Given the description of an element on the screen output the (x, y) to click on. 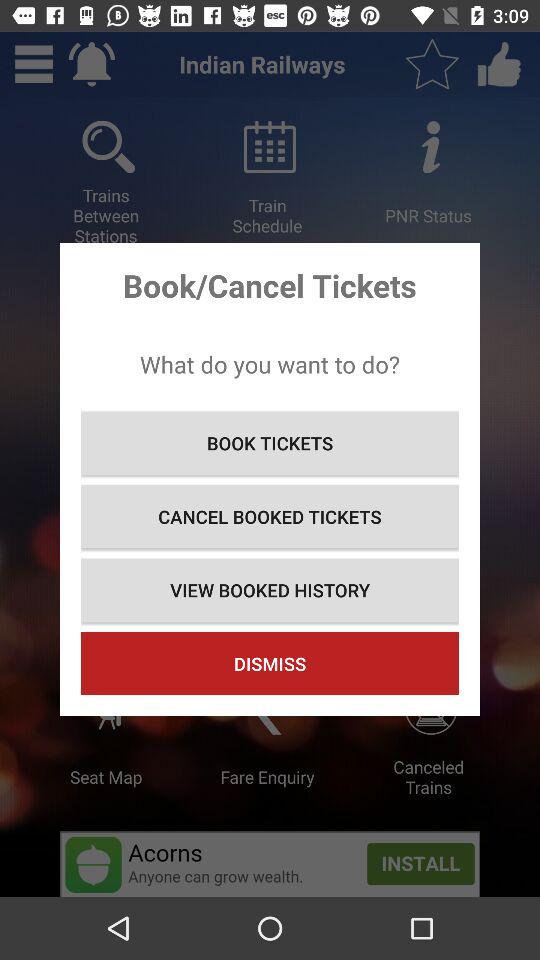
turn on the item above dismiss (270, 589)
